Given the description of an element on the screen output the (x, y) to click on. 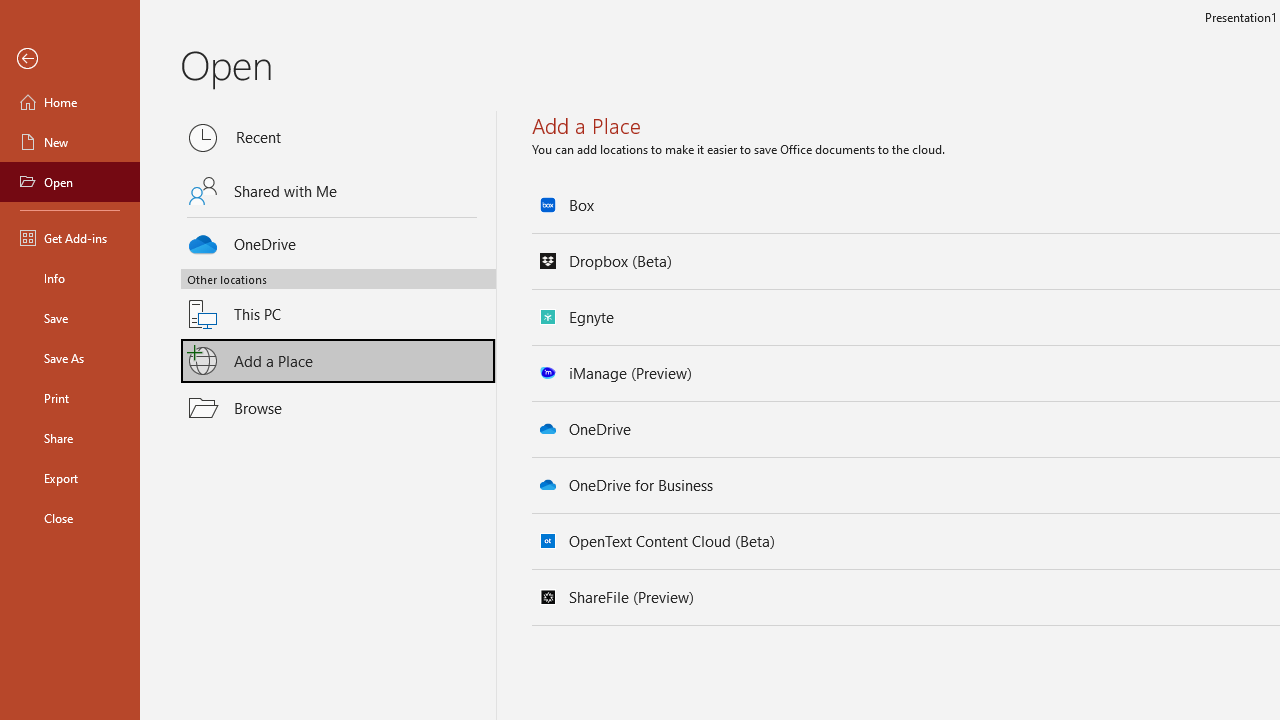
Back (69, 59)
This PC (338, 302)
Print (69, 398)
Export (69, 477)
